Given the description of an element on the screen output the (x, y) to click on. 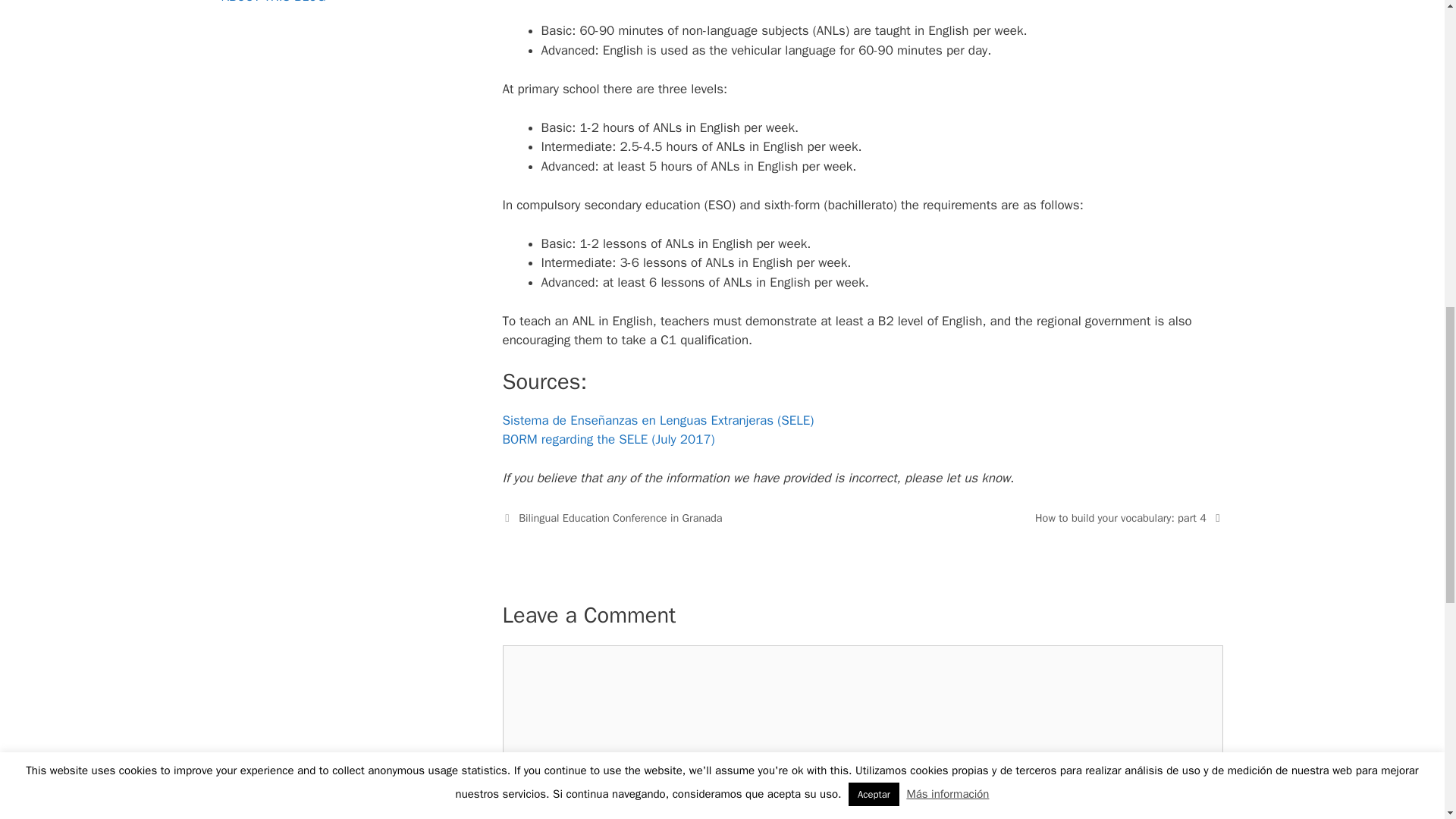
Scroll back to top (1406, 720)
